Given the description of an element on the screen output the (x, y) to click on. 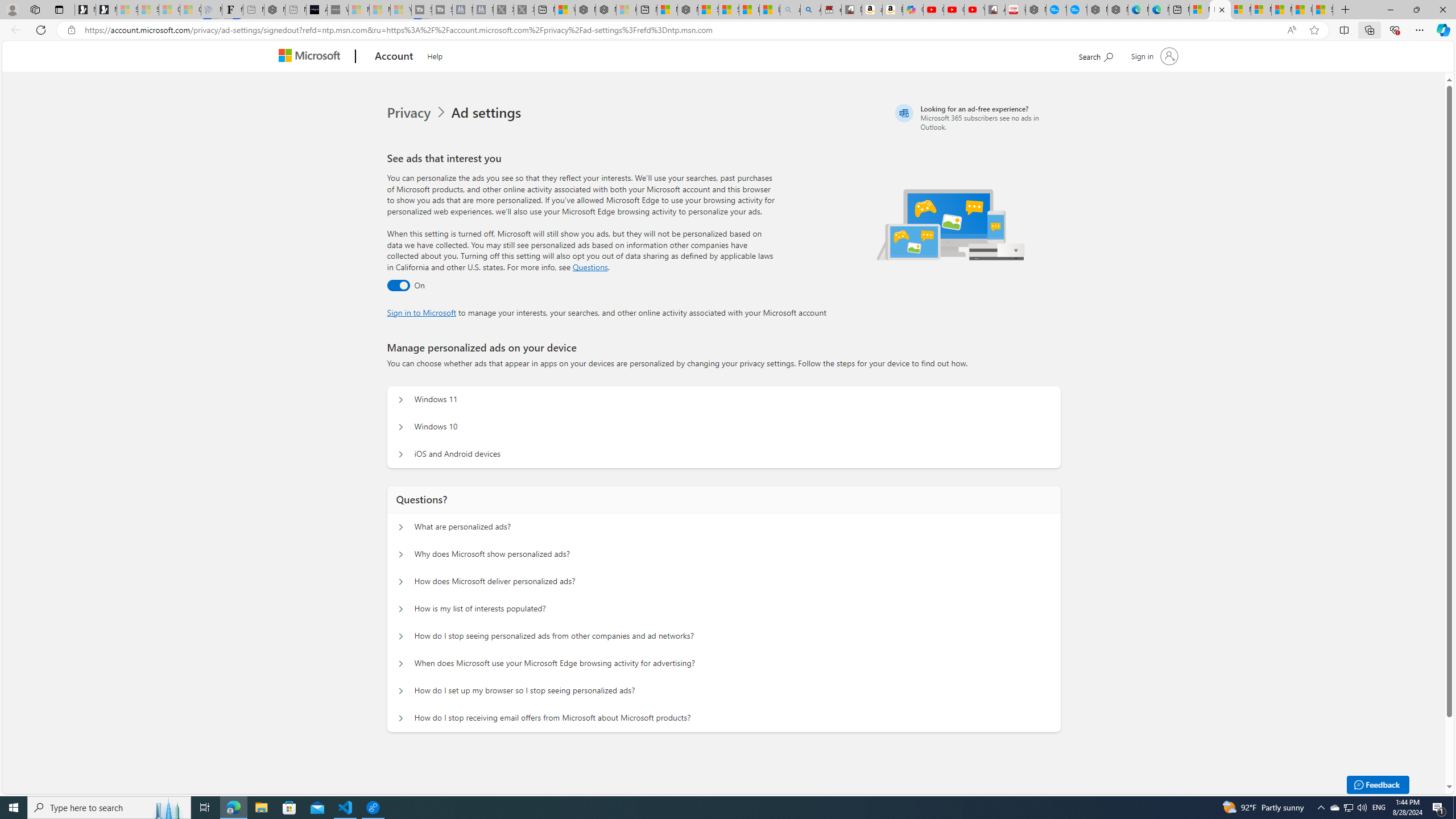
Search Microsoft.com (1095, 54)
AI Voice Changer for PC and Mac - Voice.ai (316, 9)
Account (394, 56)
Nordace - My Account (1035, 9)
Microsoft (311, 56)
YouTube Kids - An App Created for Kids to Explore Content (974, 9)
